Given the description of an element on the screen output the (x, y) to click on. 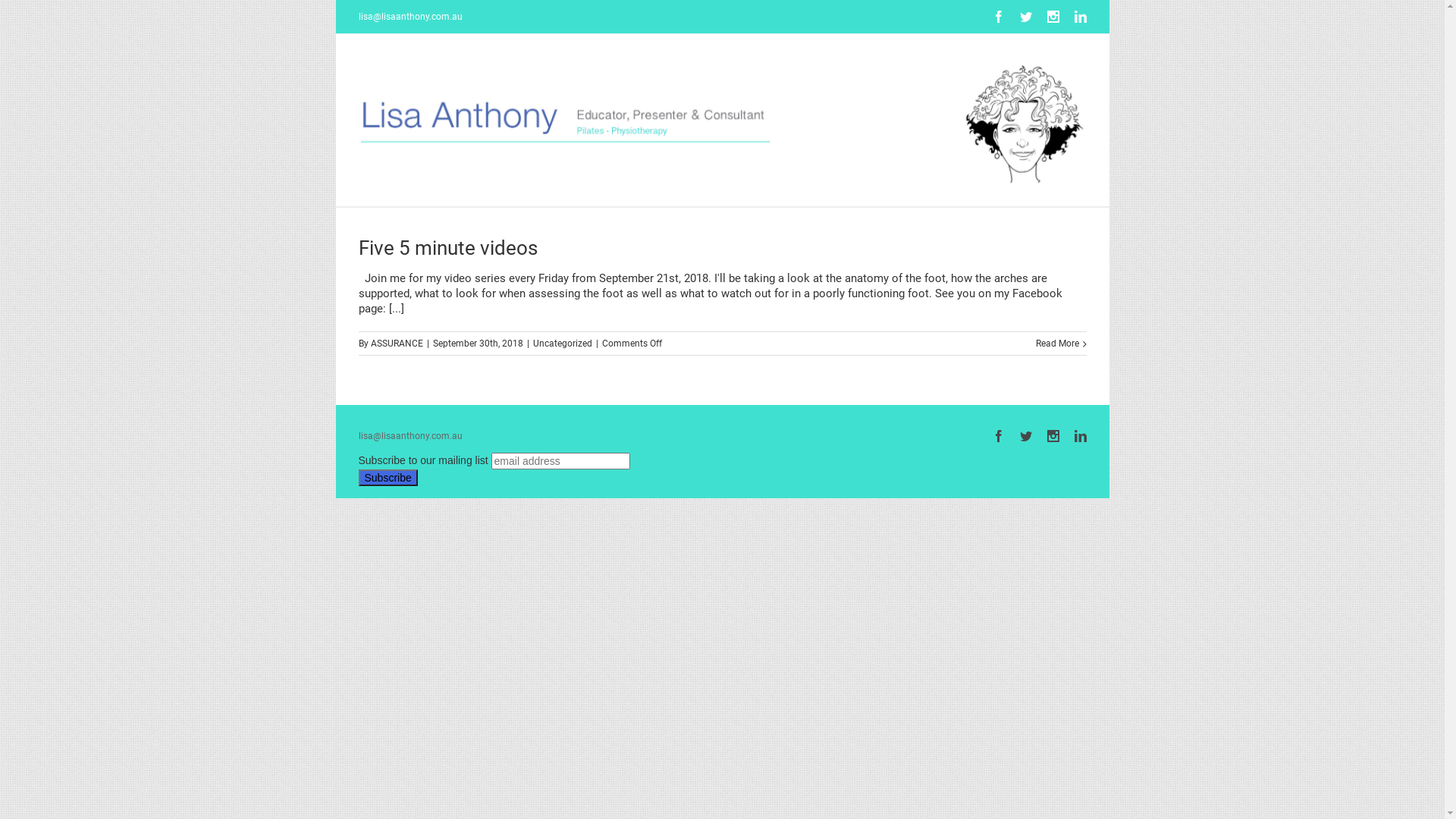
Subscribe Element type: text (387, 477)
Five 5 minute videos Element type: text (446, 247)
lisa@lisaanthony.com.au Element type: text (409, 16)
ASSURANCE Element type: text (396, 343)
Read More Element type: text (1057, 343)
Uncategorized Element type: text (561, 343)
lisa@lisaanthony.com.au Element type: text (409, 435)
